Given the description of an element on the screen output the (x, y) to click on. 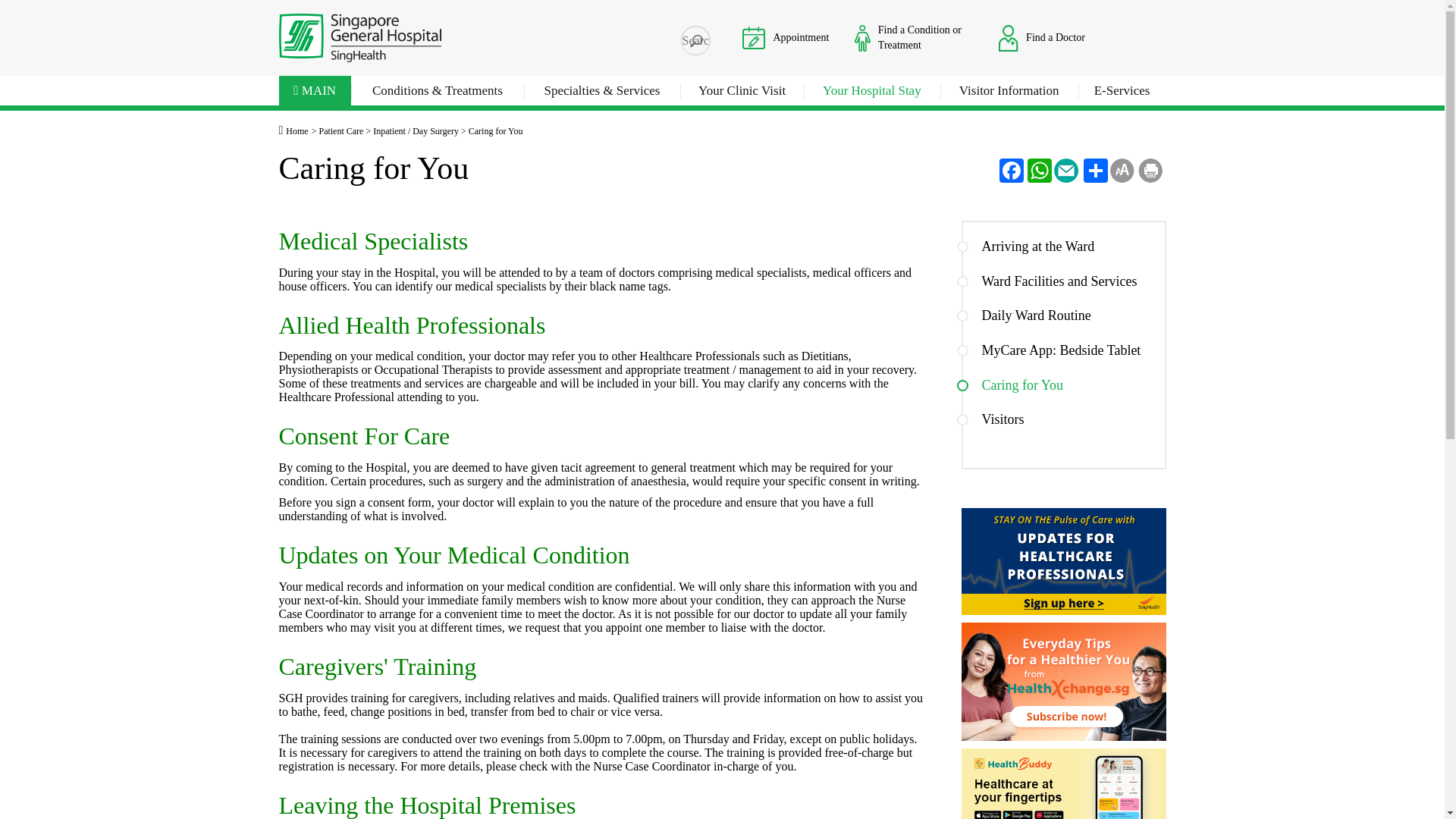
How can we help you? (695, 40)
Facebook (1009, 170)
Find a Condition or Treatment (913, 37)
Find a Doctor (1042, 37)
Appointment (785, 37)
Appointment (753, 37)
Print (1149, 170)
Email Us (1066, 170)
WhatsApp (1037, 170)
Share this Page (1093, 170)
MAIN (315, 93)
